Given the description of an element on the screen output the (x, y) to click on. 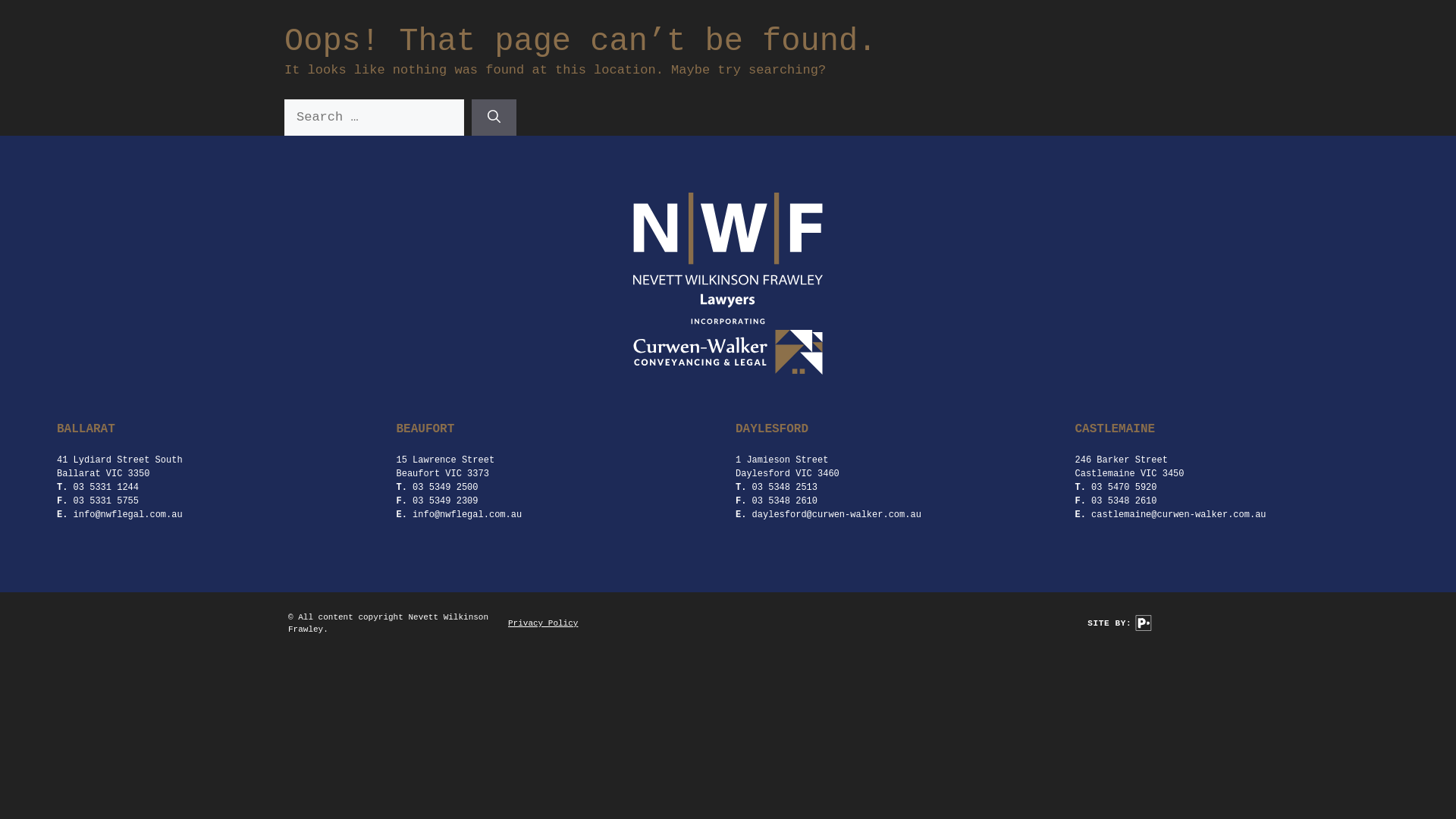
NWF CW_Colour-Rev-Transparent Element type: hover (727, 283)
info@nwflegal.com.au Element type: text (466, 514)
03 5349 2500 Element type: text (444, 487)
info@nwflegal.com.au Element type: text (127, 514)
Privacy Policy Element type: text (542, 622)
03 5470 5920 Element type: text (1123, 487)
41 Lydiard Street South
Ballarat VIC 3350 Element type: text (119, 467)
246 Barker Street
Castlemaine VIC 3450 Element type: text (1129, 467)
15 Lawrence Street
Beaufort VIC 3373 Element type: text (444, 467)
03 5348 2513 Element type: text (784, 487)
03 5331 1244 Element type: text (105, 487)
1 Jamieson Street
Daylesford VIC 3460 Element type: text (787, 467)
Search for: Element type: hover (374, 117)
